Given the description of an element on the screen output the (x, y) to click on. 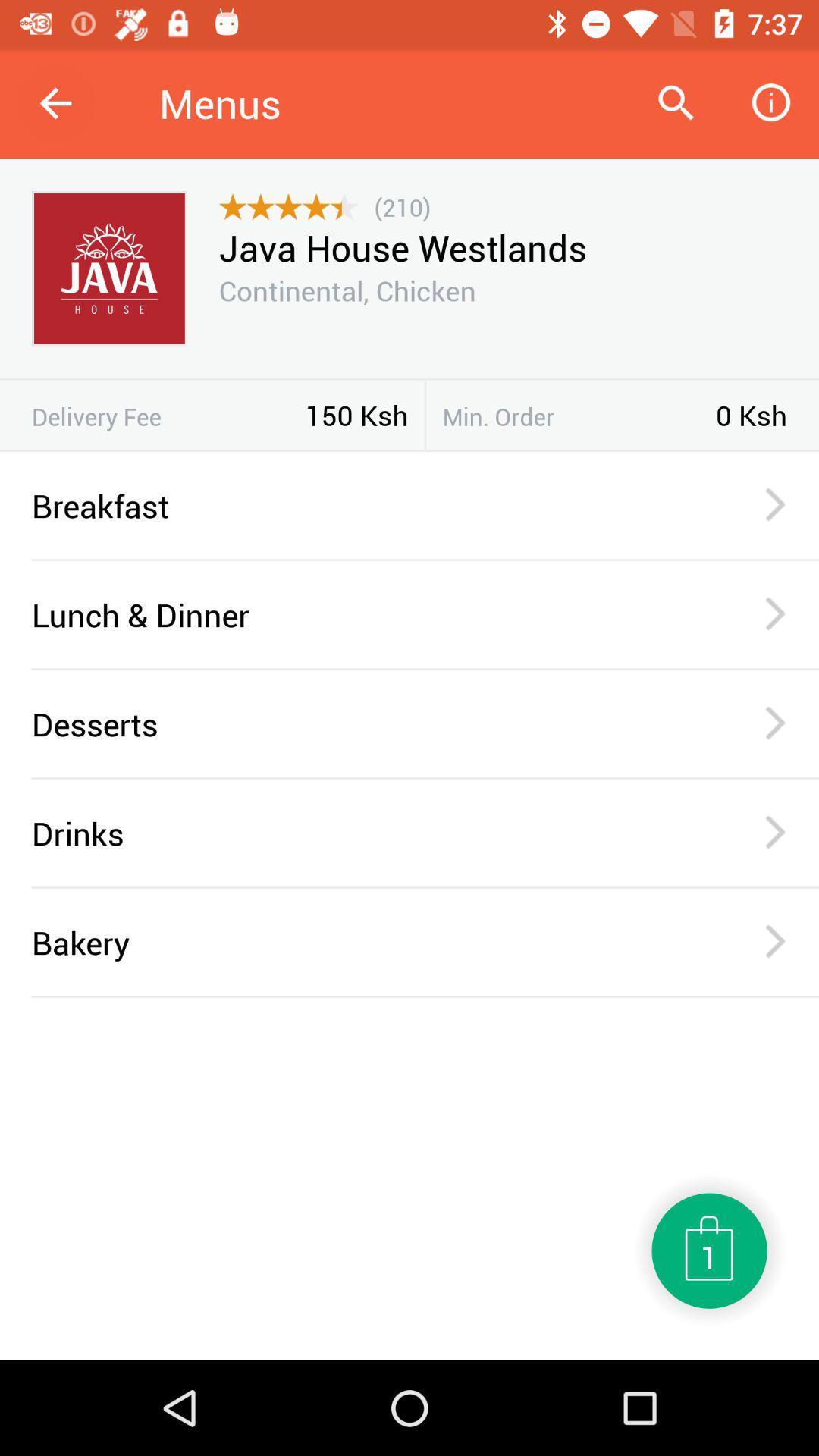
choose the (210) item (402, 207)
